Given the description of an element on the screen output the (x, y) to click on. 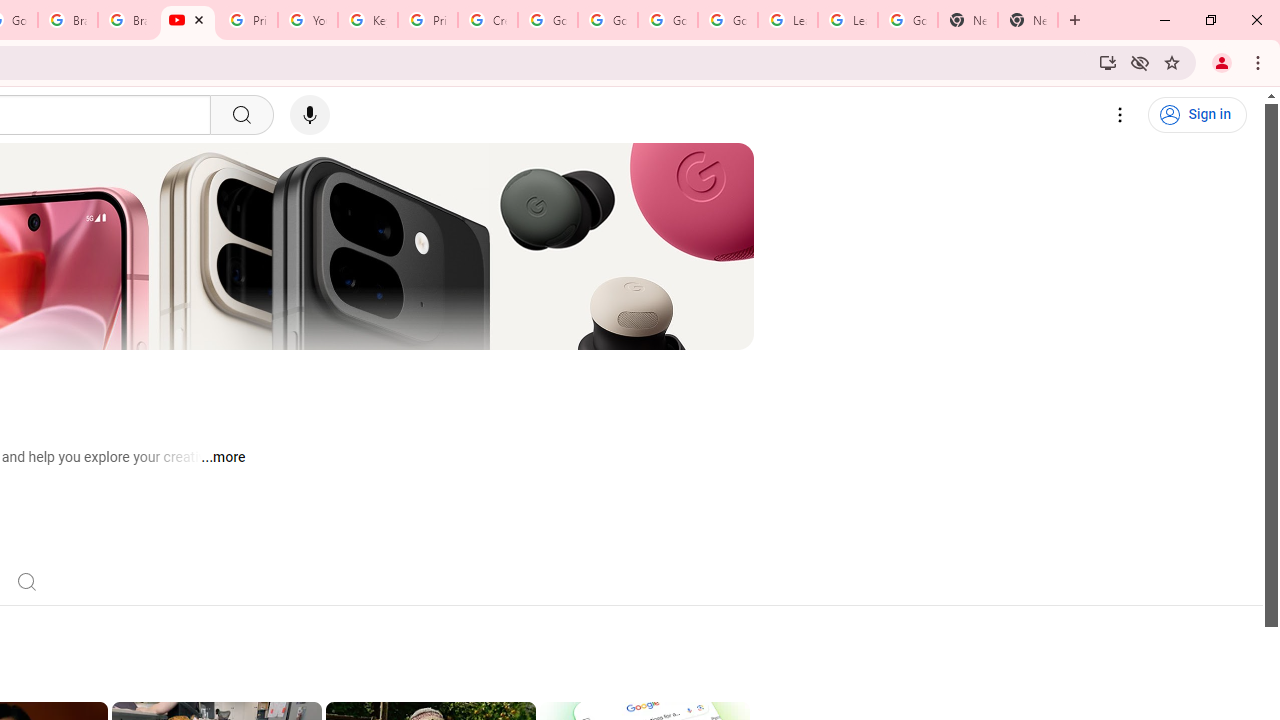
YouTube (307, 20)
Google Account (908, 20)
Search with your voice (309, 115)
Google Account Help (607, 20)
New Tab (1028, 20)
Install YouTube (1107, 62)
Google Account Help (727, 20)
